Given the description of an element on the screen output the (x, y) to click on. 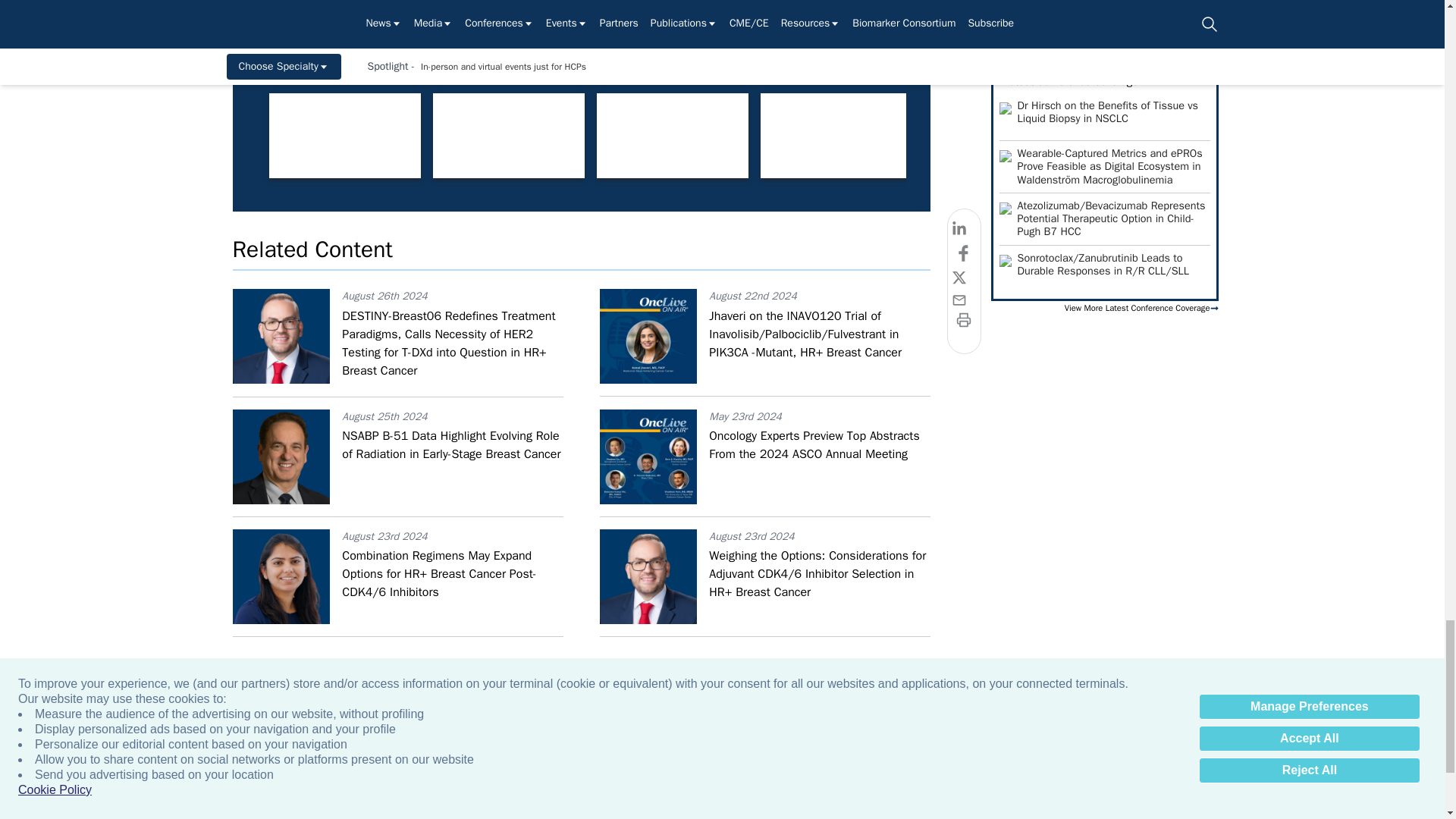
Douglas Yee, MD (999, 136)
Stephen Hursting, PhD, MPH (1163, 136)
Kevin Kalinsky, MD, MS (1326, 136)
Peter Forsyth, MD (343, 136)
Bruce G. Haffty, MD, MS, FACR, FASTRO (507, 136)
